Given the description of an element on the screen output the (x, y) to click on. 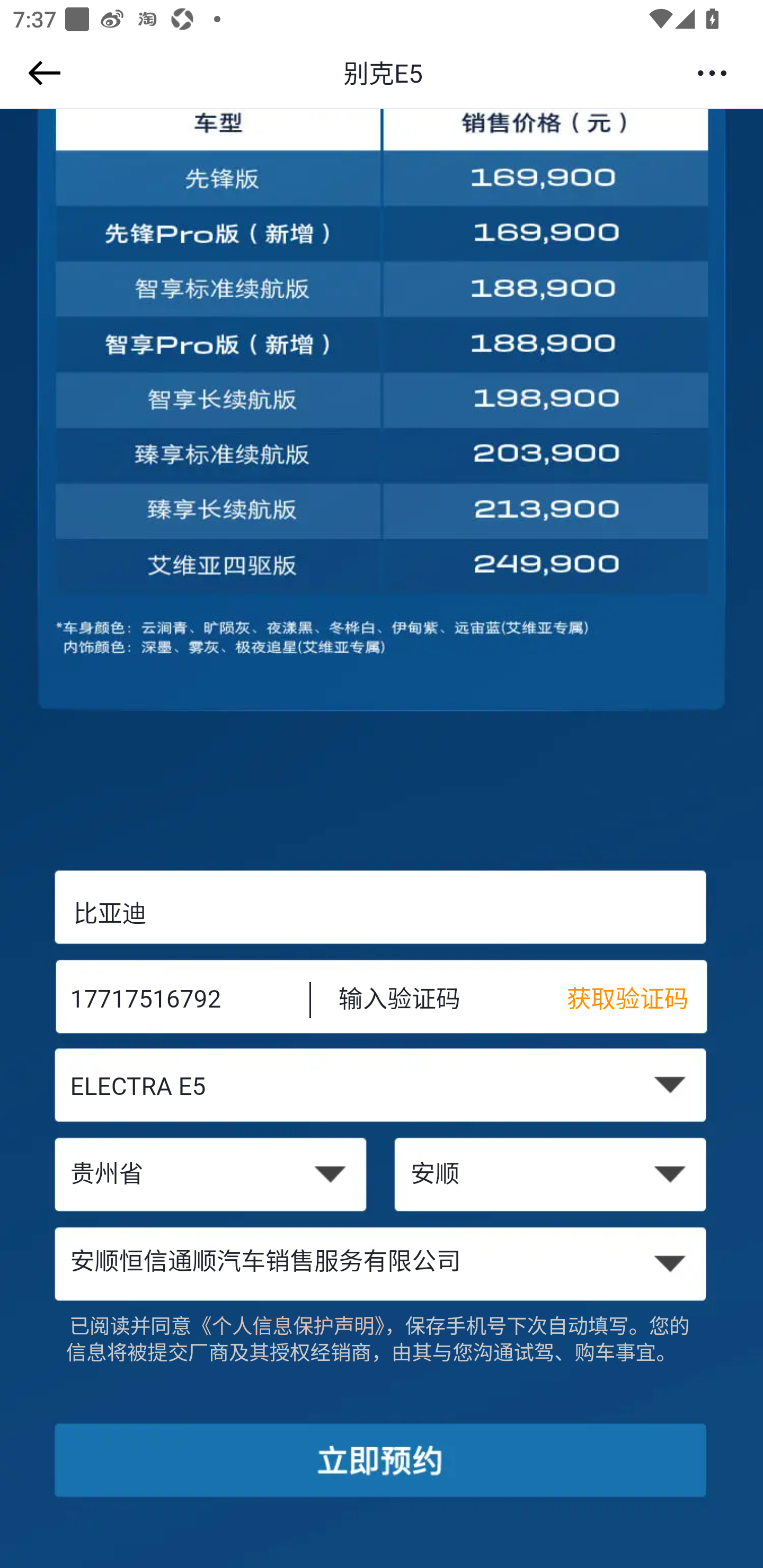
 (41, 72)
比亚迪 (381, 912)
17717516792 (176, 1001)
获取验证码 (637, 1001)
ELECTRA E5 (381, 1088)
贵州省 (210, 1175)
安顺 (552, 1175)
安顺恒信通顺汽车销售服务有限公司 (381, 1262)
